Given the description of an element on the screen output the (x, y) to click on. 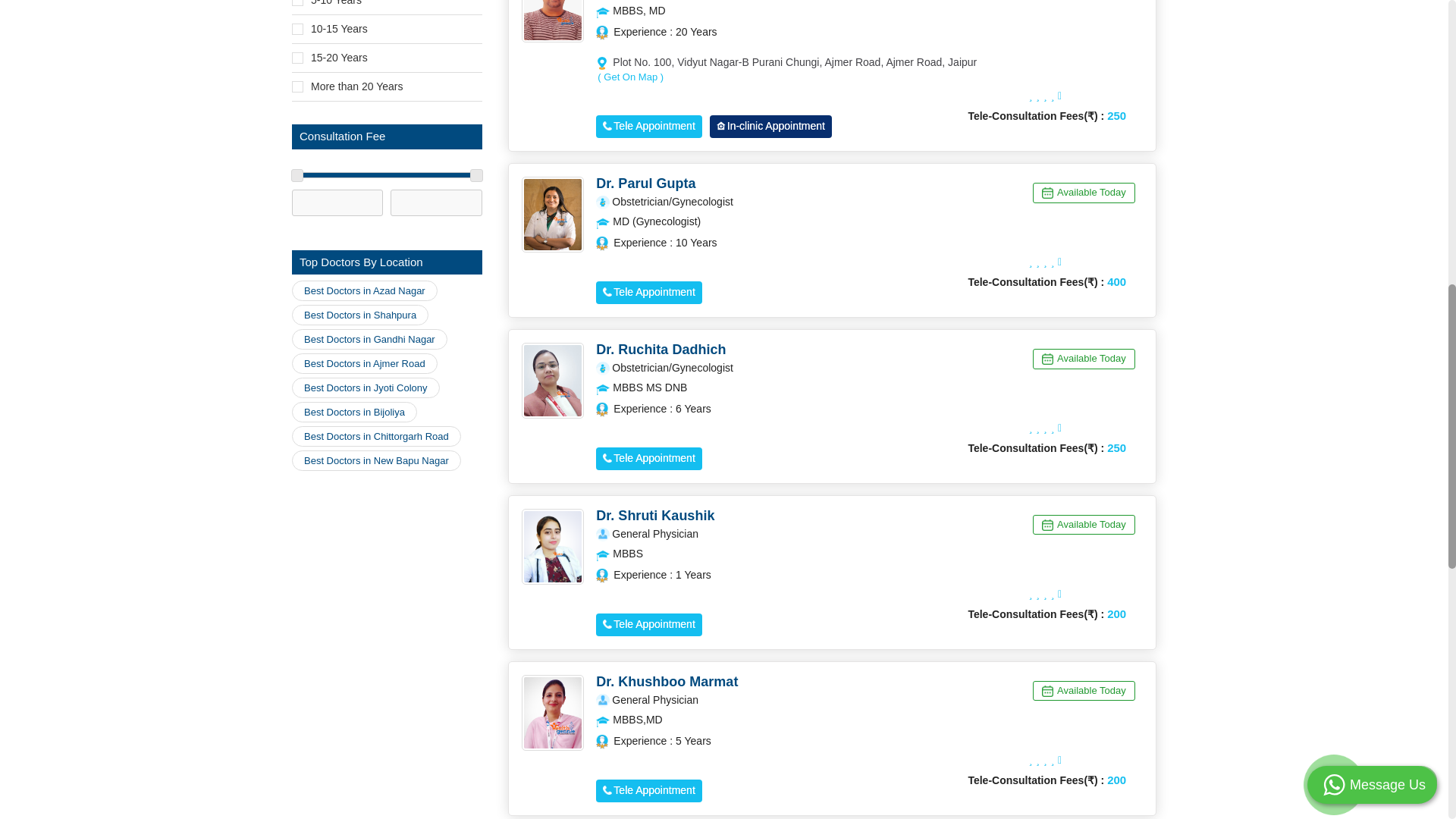
Best Doctors in Azad Nagar (365, 290)
4.7 Rating (1047, 594)
4.7 Rating (1047, 262)
Best Doctors in Shahpura (360, 314)
4.7 Rating (1047, 427)
4.7 Rating (1047, 96)
4.7 Rating (1047, 760)
